Given the description of an element on the screen output the (x, y) to click on. 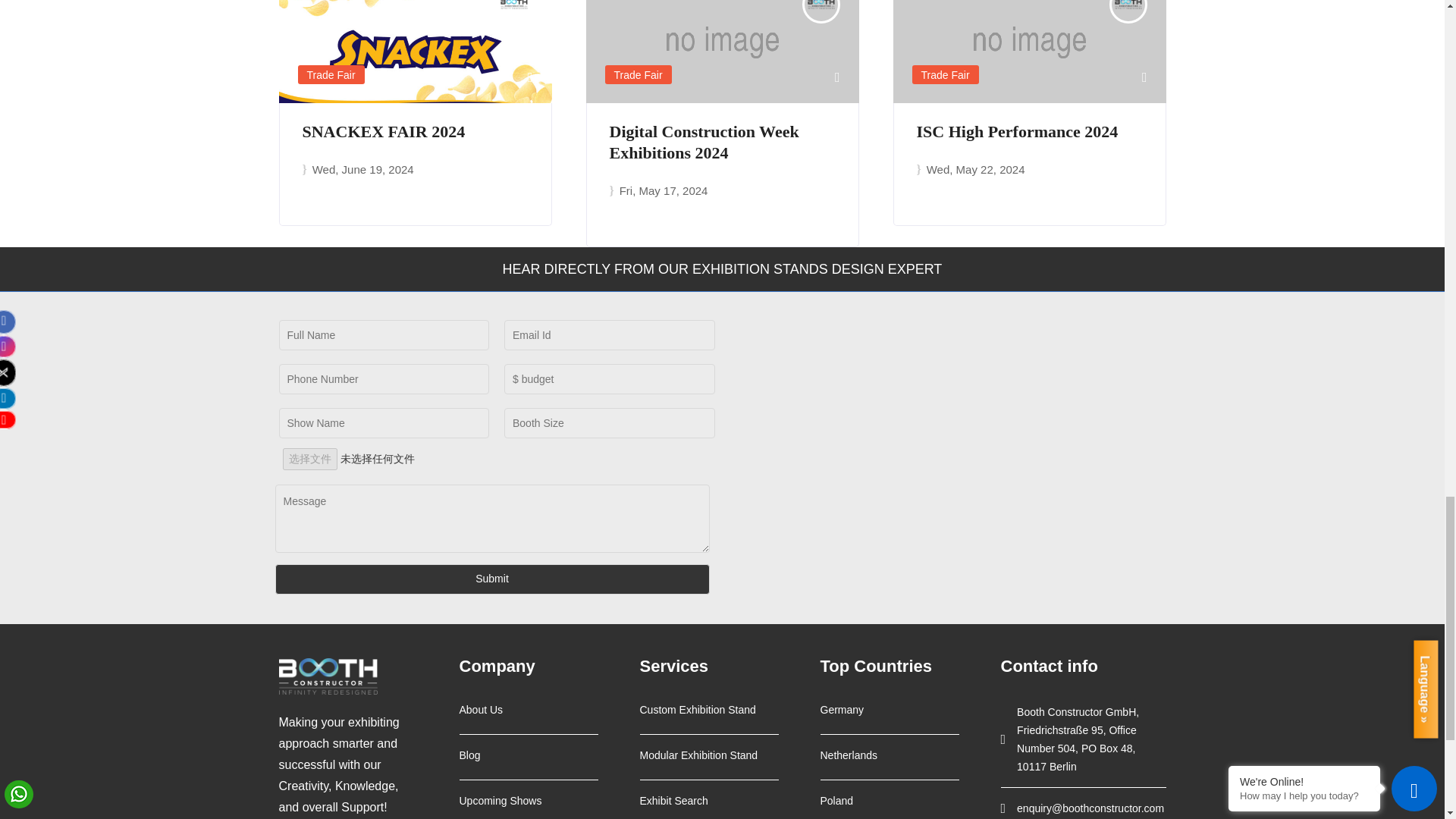
Submit (492, 579)
